Given the description of an element on the screen output the (x, y) to click on. 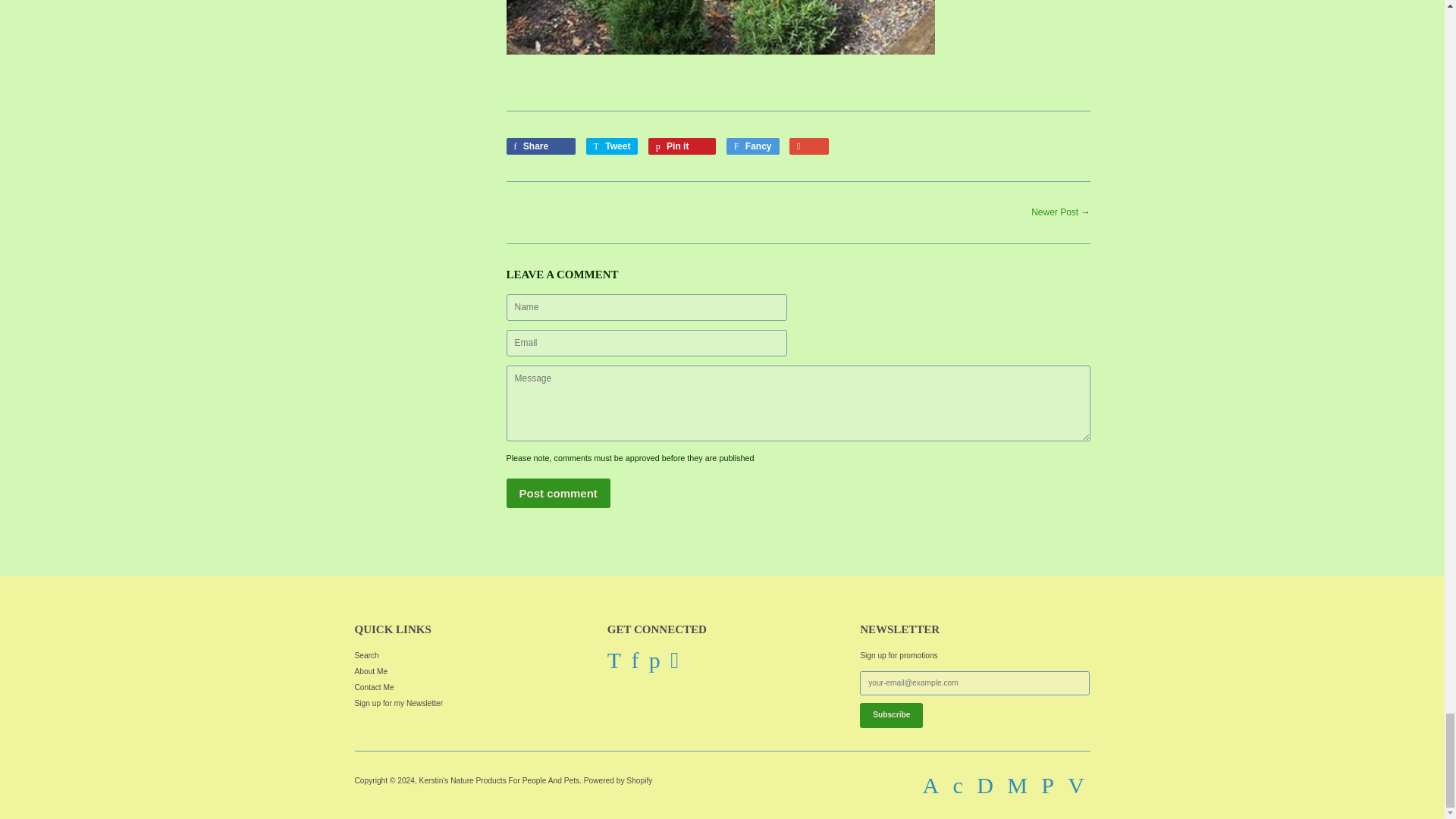
Kerstin's Nature Products For People And Pets on Facebook (634, 660)
Kerstin's Nature Products For People And Pets on Pinterest (655, 660)
Subscribe (891, 714)
Kerstin's Nature Products For People And Pets on Twitter (614, 660)
Kerstin's Nature Products For People And Pets on Google Plus (673, 660)
Post comment (558, 492)
